Given the description of an element on the screen output the (x, y) to click on. 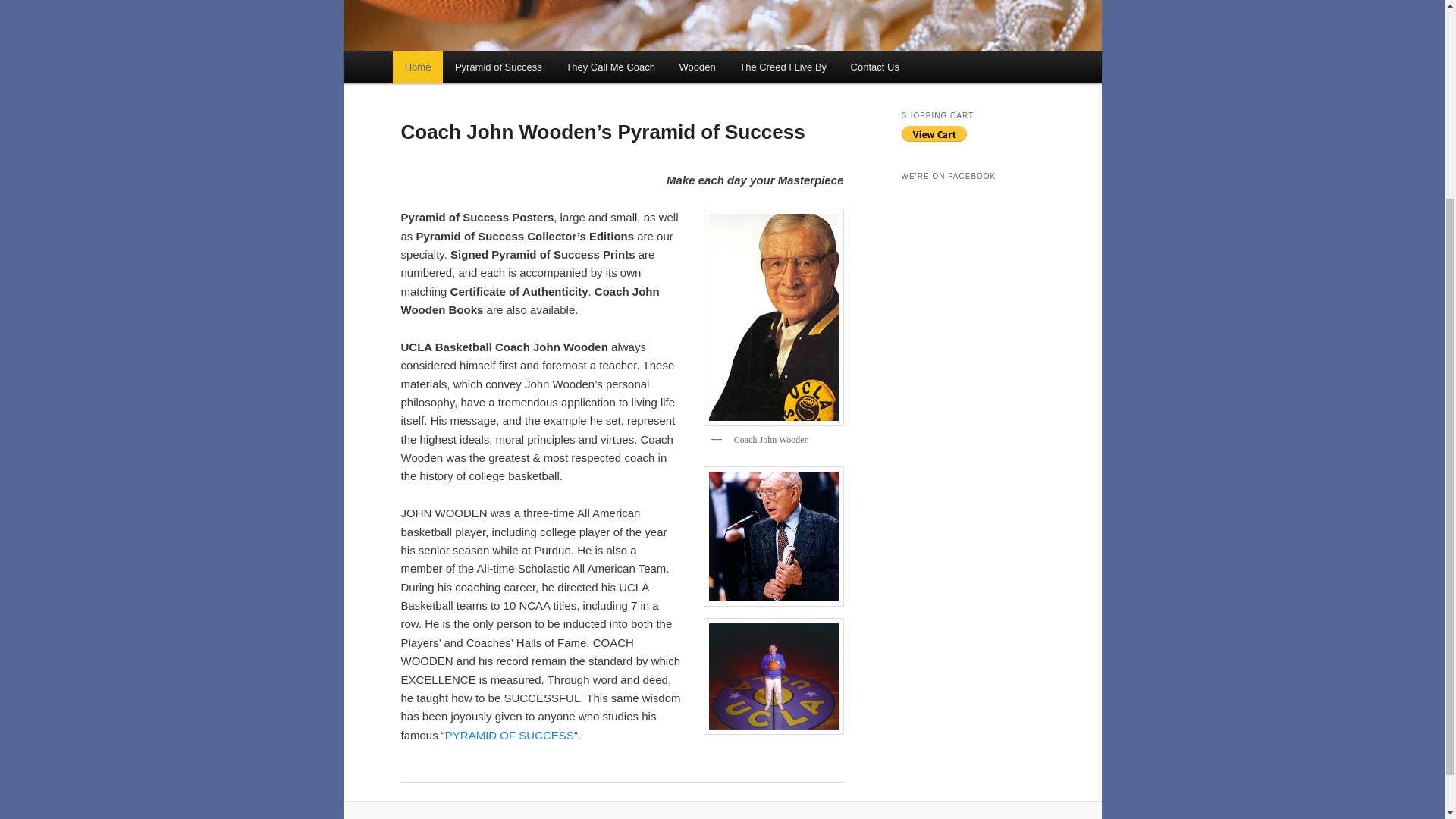
PYRAMID OF SUCCESS (509, 735)
The Creed I Live By (782, 66)
Pyramid of Success (497, 66)
They Call Me Coach (609, 66)
Pyramid of Success (509, 735)
Home (417, 66)
Contact Us (874, 66)
Wooden (697, 66)
